Given the description of an element on the screen output the (x, y) to click on. 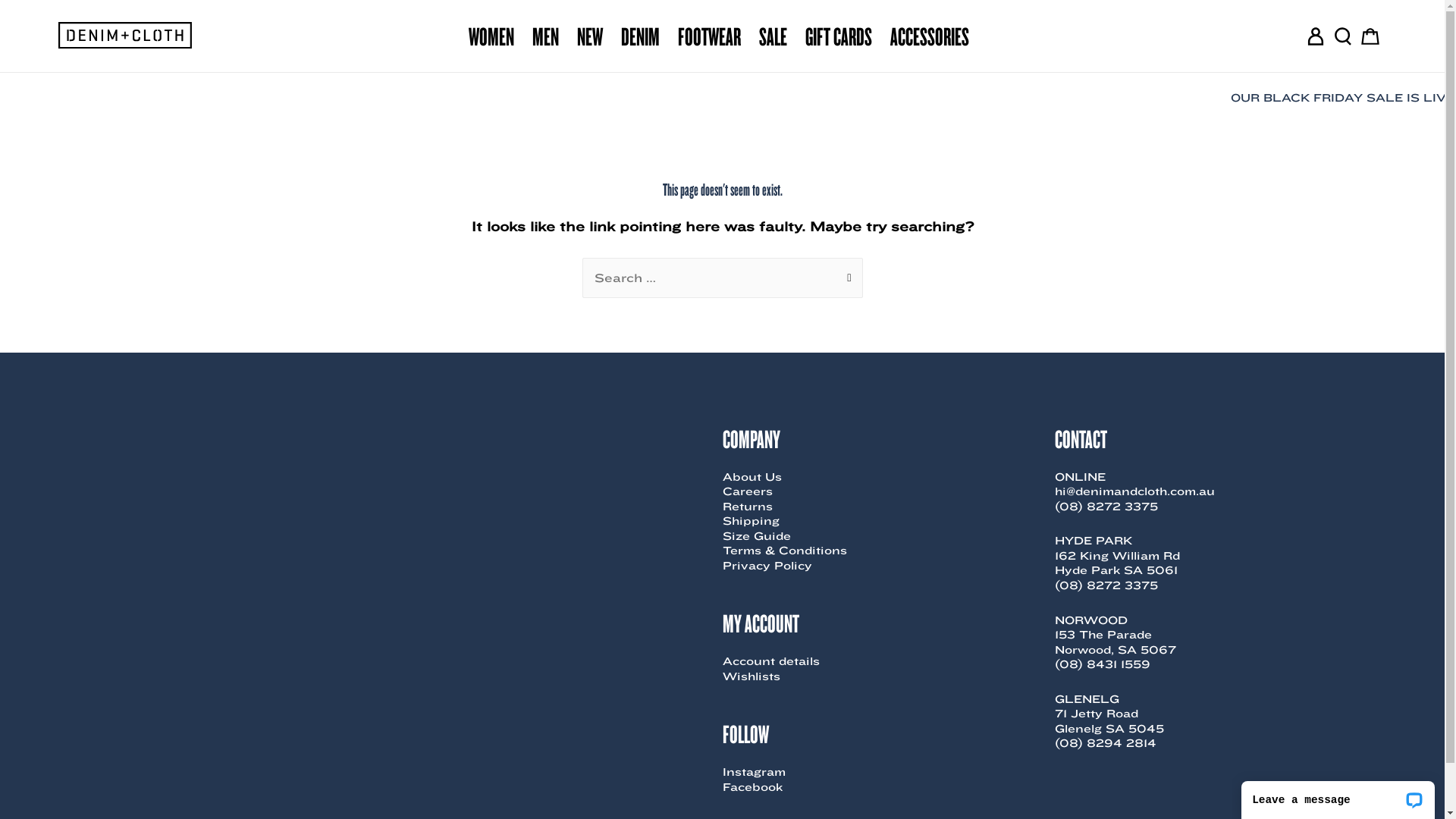
hi@denimandcloth.com.au Element type: text (1134, 491)
(08) 8272 3375 Element type: text (1105, 585)
Cart Element type: text (1369, 36)
Facebook Element type: text (751, 786)
Size Guide Element type: text (755, 535)
My Account Element type: text (1314, 36)
FOOTWEAR Element type: text (708, 36)
MEN Element type: text (545, 36)
Careers Element type: text (746, 491)
WOMEN Element type: text (491, 36)
GIFT CARDS Element type: text (838, 36)
Denim and Cloth Element type: text (128, 35)
About Us Element type: text (751, 476)
MY ACCOUNT Element type: text (759, 622)
Terms & Conditions Element type: text (783, 550)
Wishlists Element type: text (750, 676)
Search Element type: text (845, 273)
Account details Element type: text (770, 661)
FOLLOW Element type: text (744, 733)
COMPANY Element type: text (750, 438)
(08) 8294 2814 Element type: text (1104, 742)
Shipping Element type: text (749, 520)
(08) 8272 3375 Element type: text (1105, 506)
ACCESSORIES Element type: text (929, 36)
Returns Element type: text (746, 506)
NEW Element type: text (589, 36)
Privacy Policy Element type: text (766, 565)
Instagram Element type: text (752, 771)
(08) 8431 1559 Element type: text (1101, 664)
SALE Element type: text (772, 36)
DENIM Element type: text (639, 36)
Search Element type: text (1342, 36)
